Given the description of an element on the screen output the (x, y) to click on. 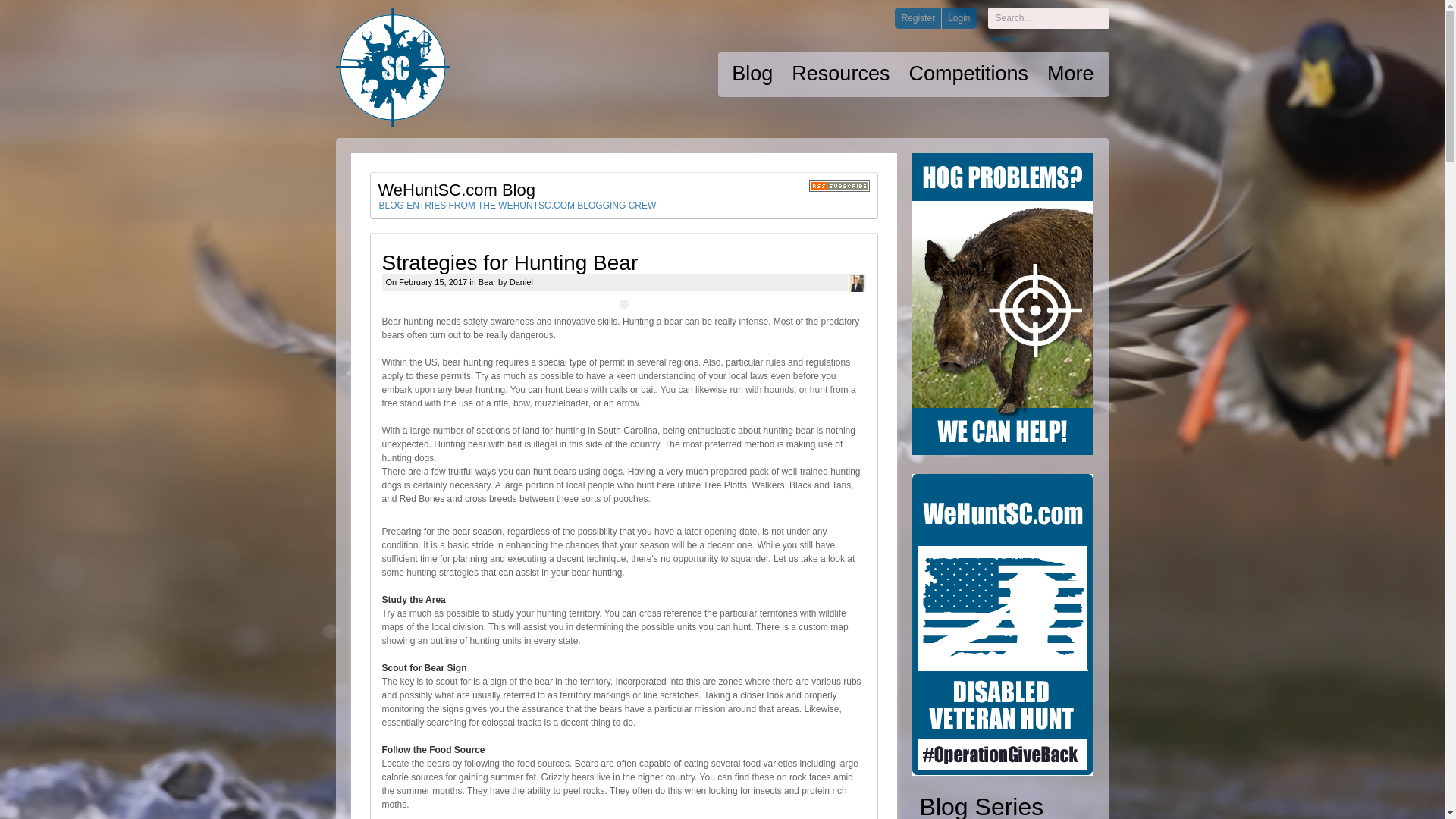
Register (917, 17)
Bear (487, 281)
WeHuntSC.com (391, 66)
Blog (752, 74)
Daniel (520, 281)
Search (1001, 39)
Strategies for Hunting Bear (510, 262)
Login (957, 17)
Clear search text (1071, 19)
South Carolina Nuisance Hog Removal (1002, 303)
